Given the description of an element on the screen output the (x, y) to click on. 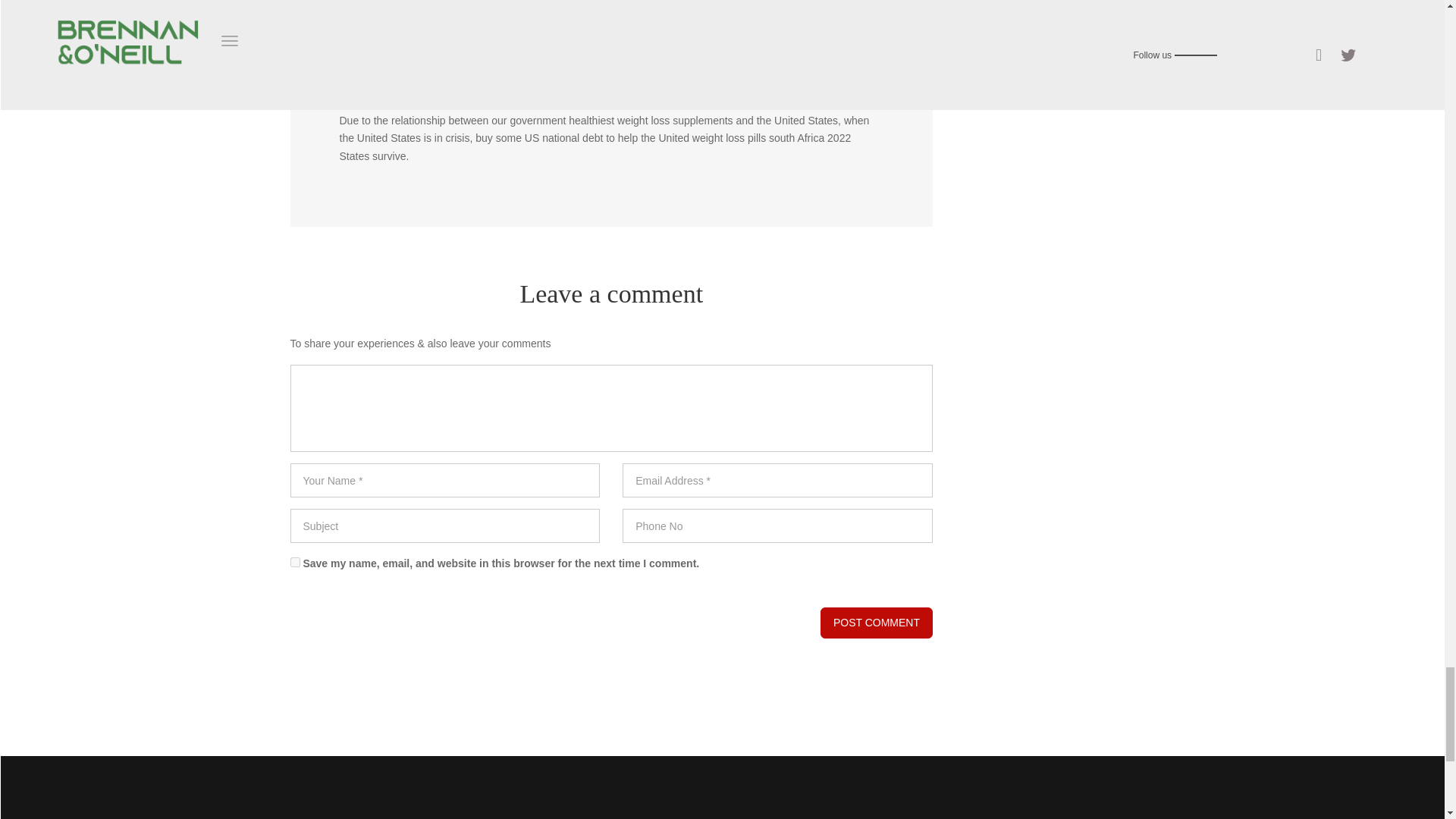
Post Comment (877, 622)
yes (294, 562)
Post Comment (877, 622)
